Given the description of an element on the screen output the (x, y) to click on. 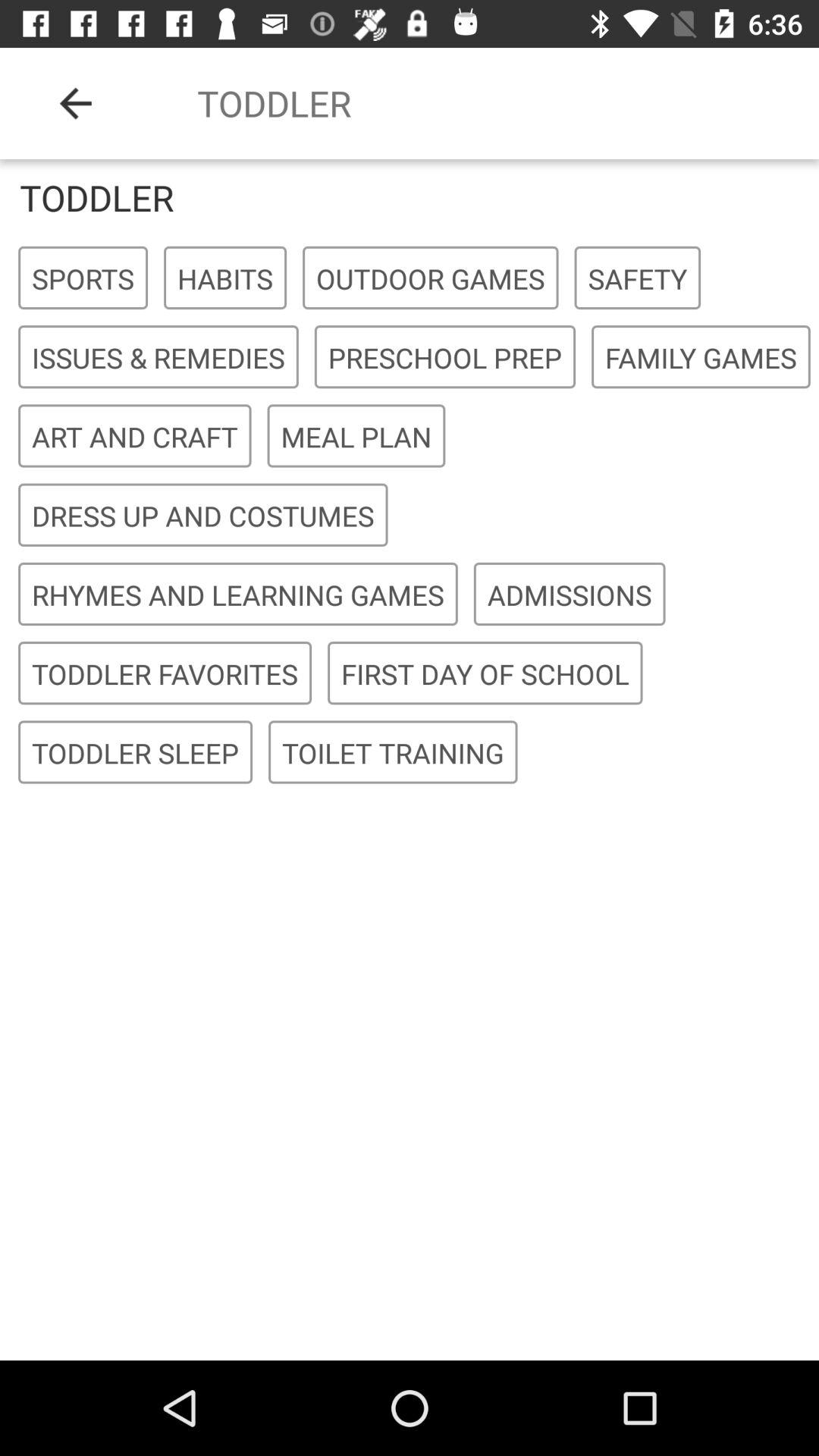
select item to the right of preschool prep icon (700, 357)
